Given the description of an element on the screen output the (x, y) to click on. 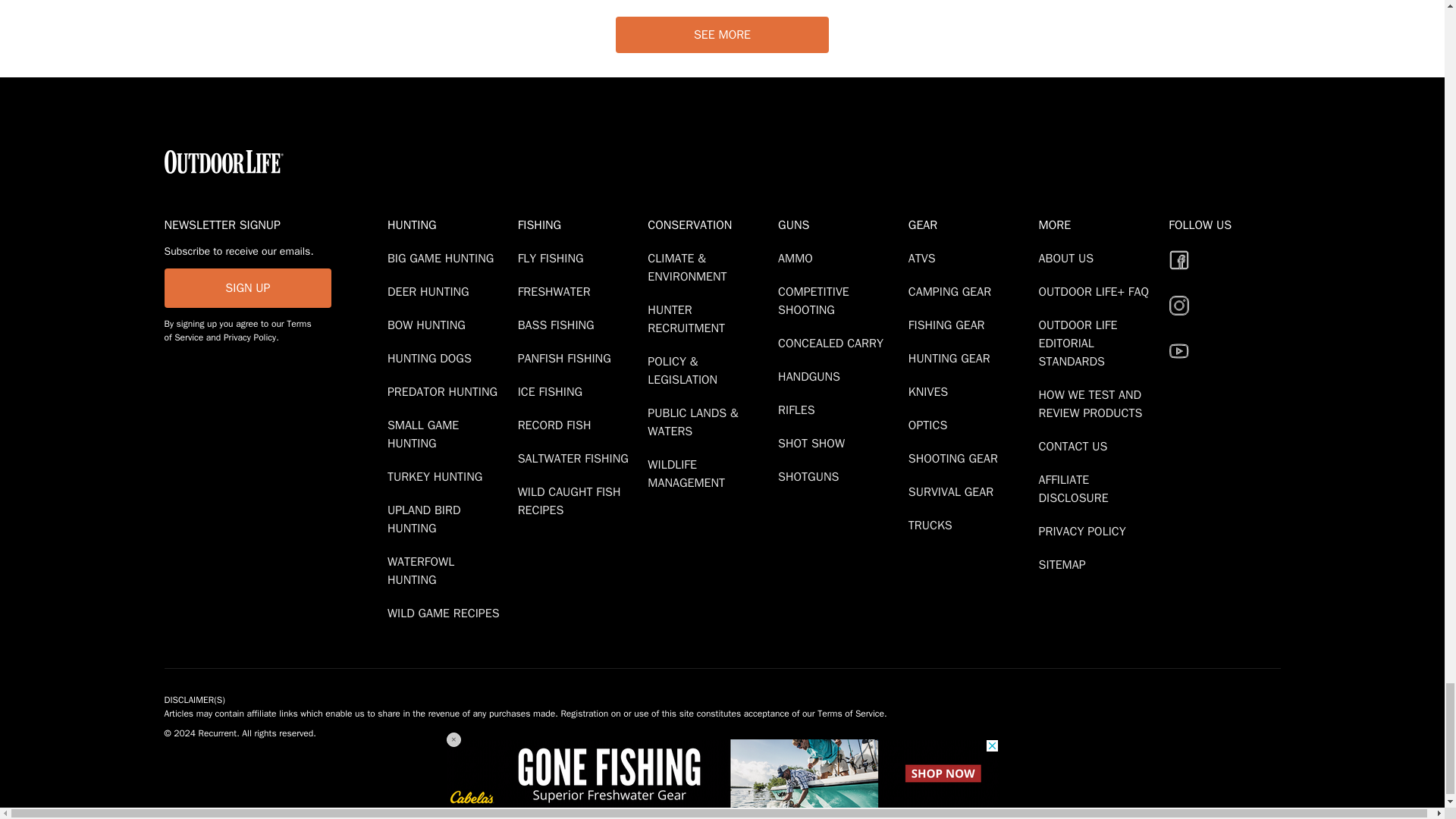
Hunting (449, 225)
Big Game Hunting (443, 258)
